Given the description of an element on the screen output the (x, y) to click on. 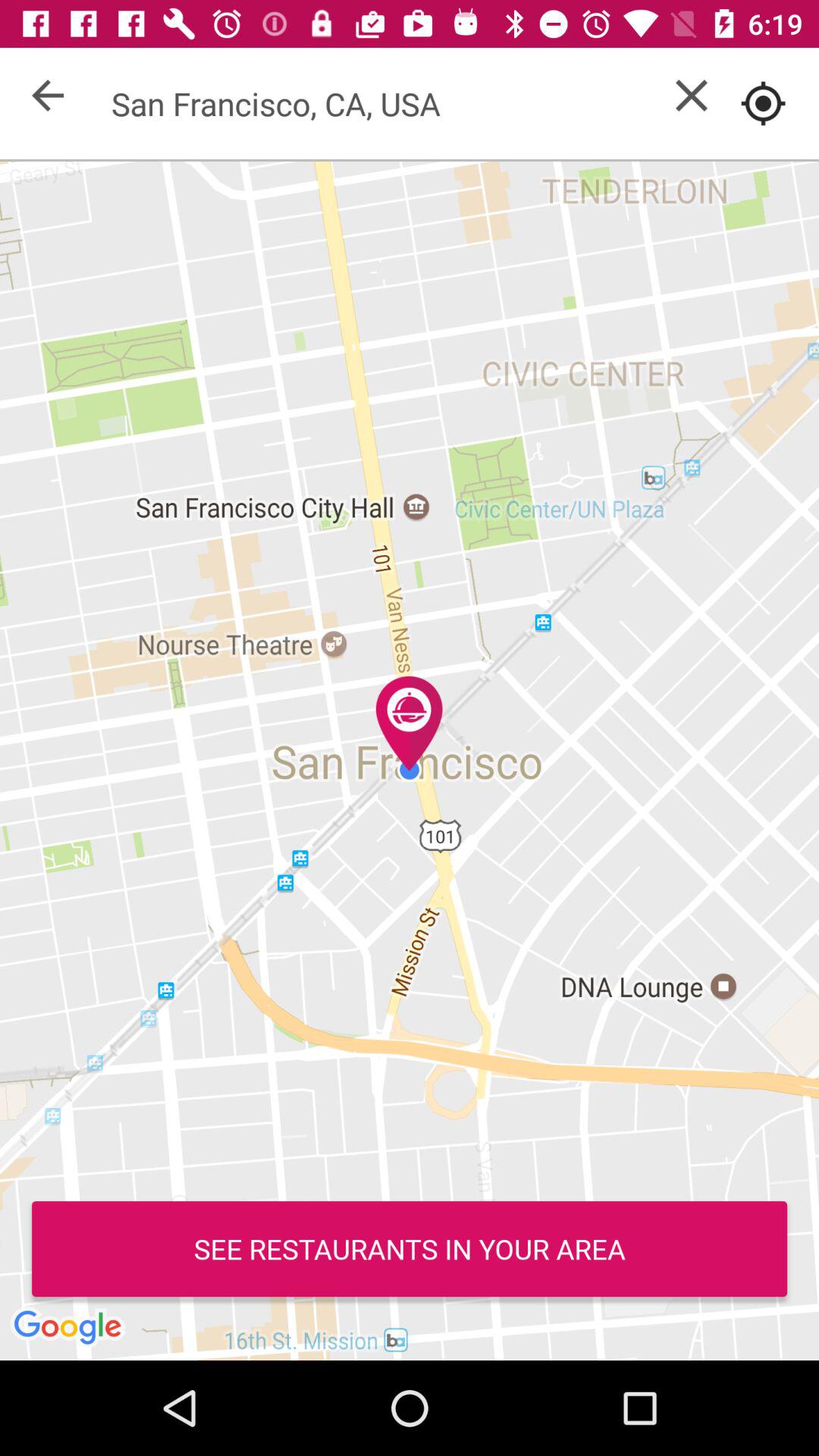
cancel search query (691, 95)
